Given the description of an element on the screen output the (x, y) to click on. 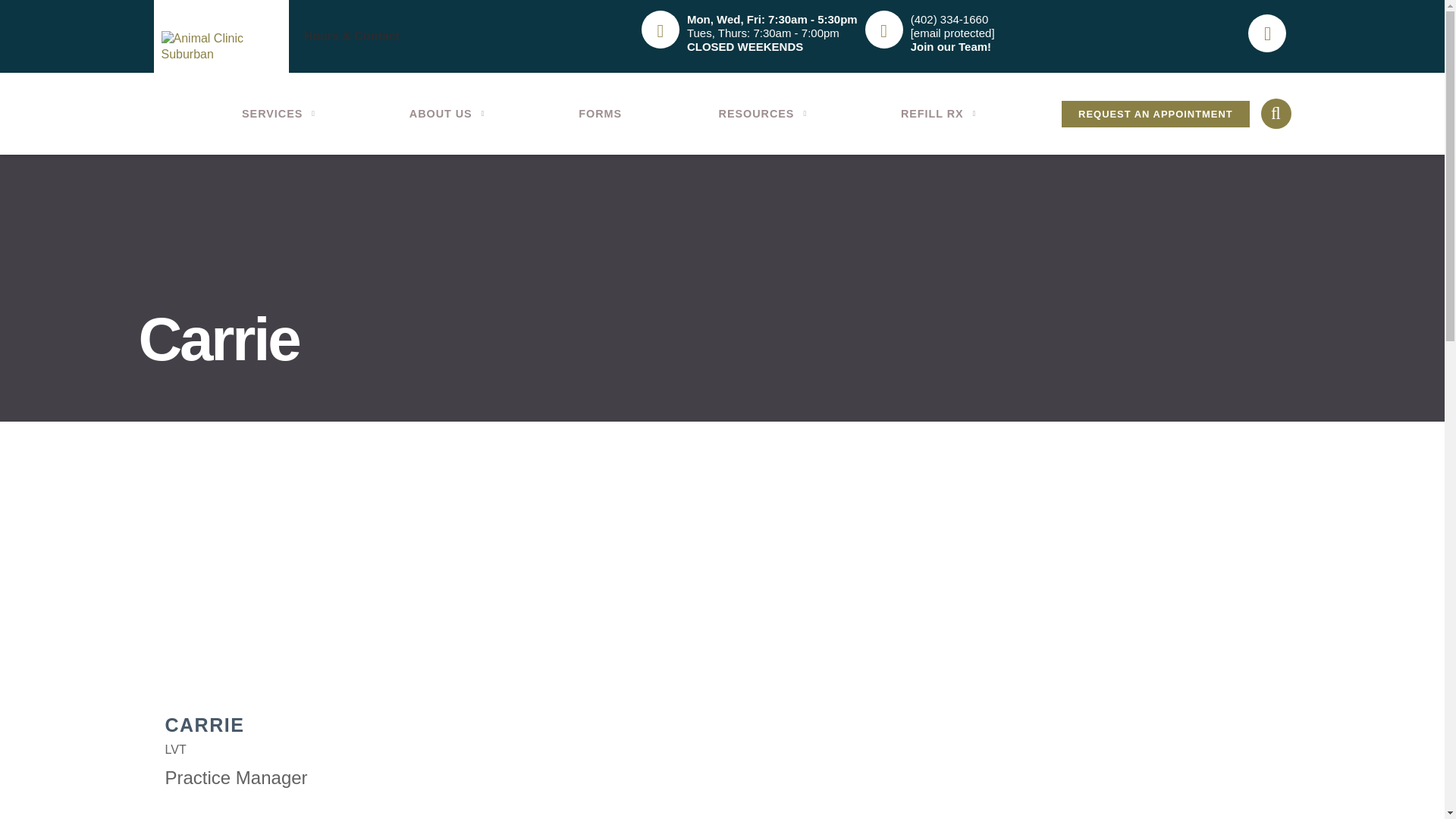
REFILL RX (937, 113)
Home (220, 47)
Search (94, 23)
RESOURCES (762, 113)
ABOUT US (445, 113)
More about us (445, 113)
SERVICES (276, 113)
Join our Team! (951, 46)
Our Services (276, 113)
REQUEST AN APPOINTMENT (1155, 113)
